Given the description of an element on the screen output the (x, y) to click on. 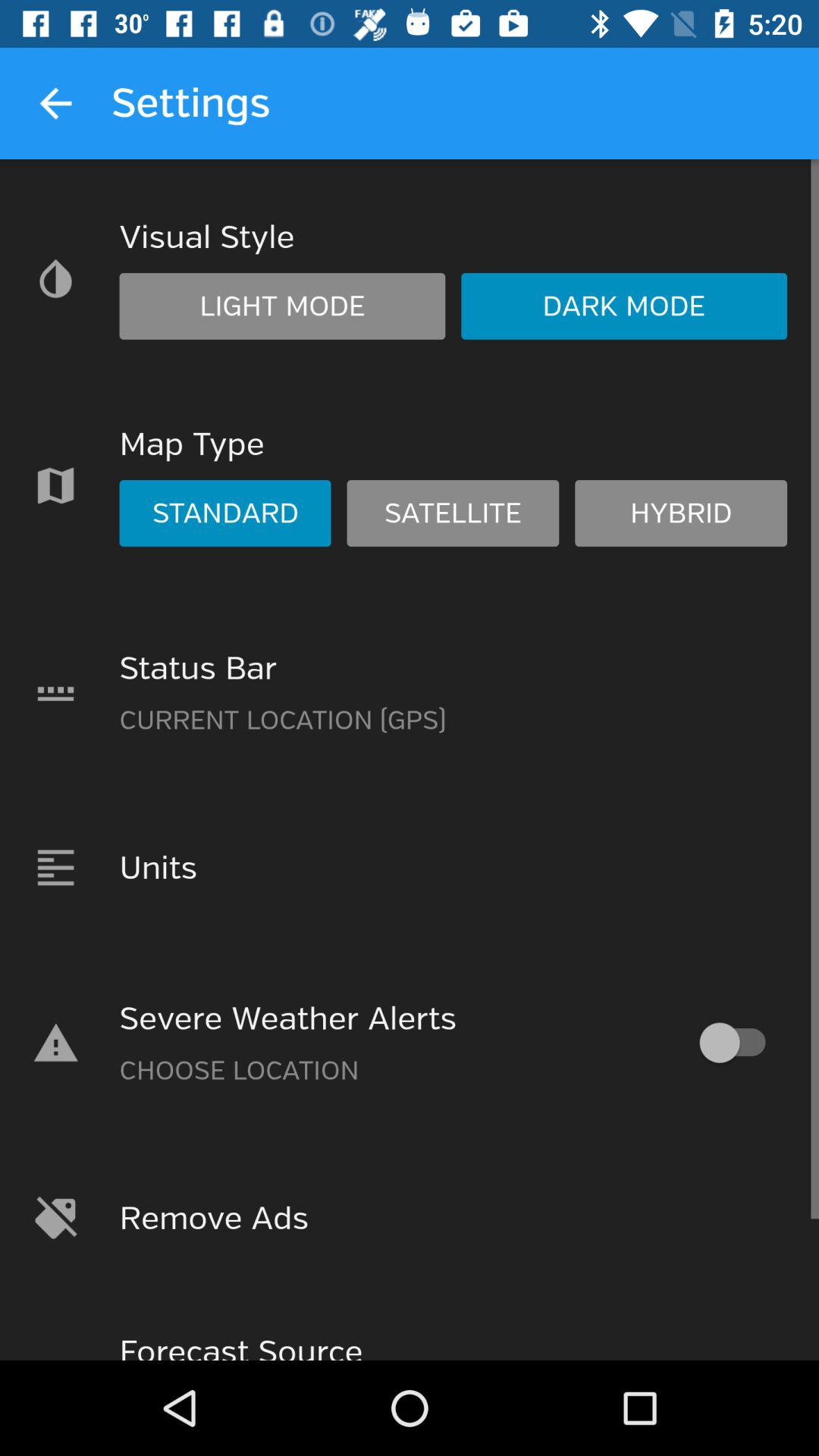
press the icon next to the settings (55, 103)
